Given the description of an element on the screen output the (x, y) to click on. 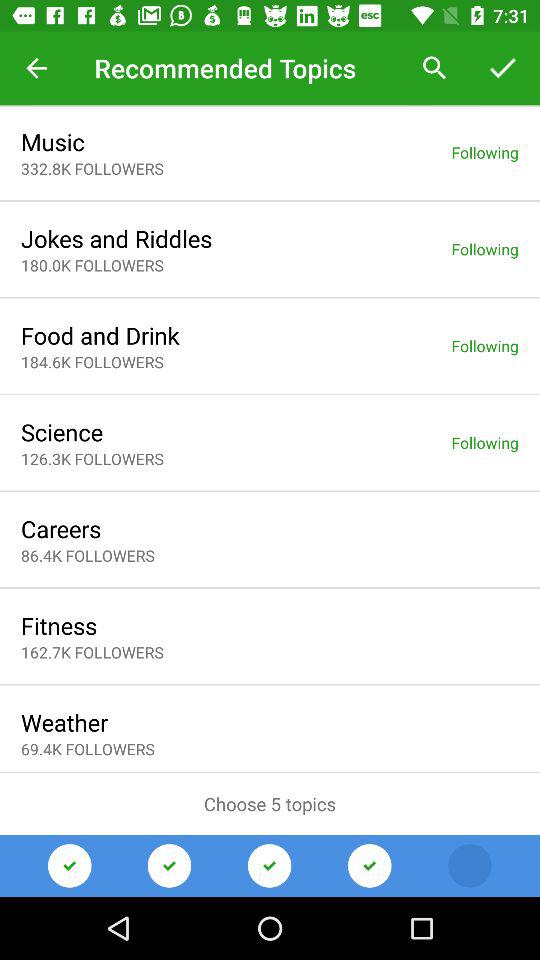
tap the icon to the left of recommended topics app (36, 68)
